Given the description of an element on the screen output the (x, y) to click on. 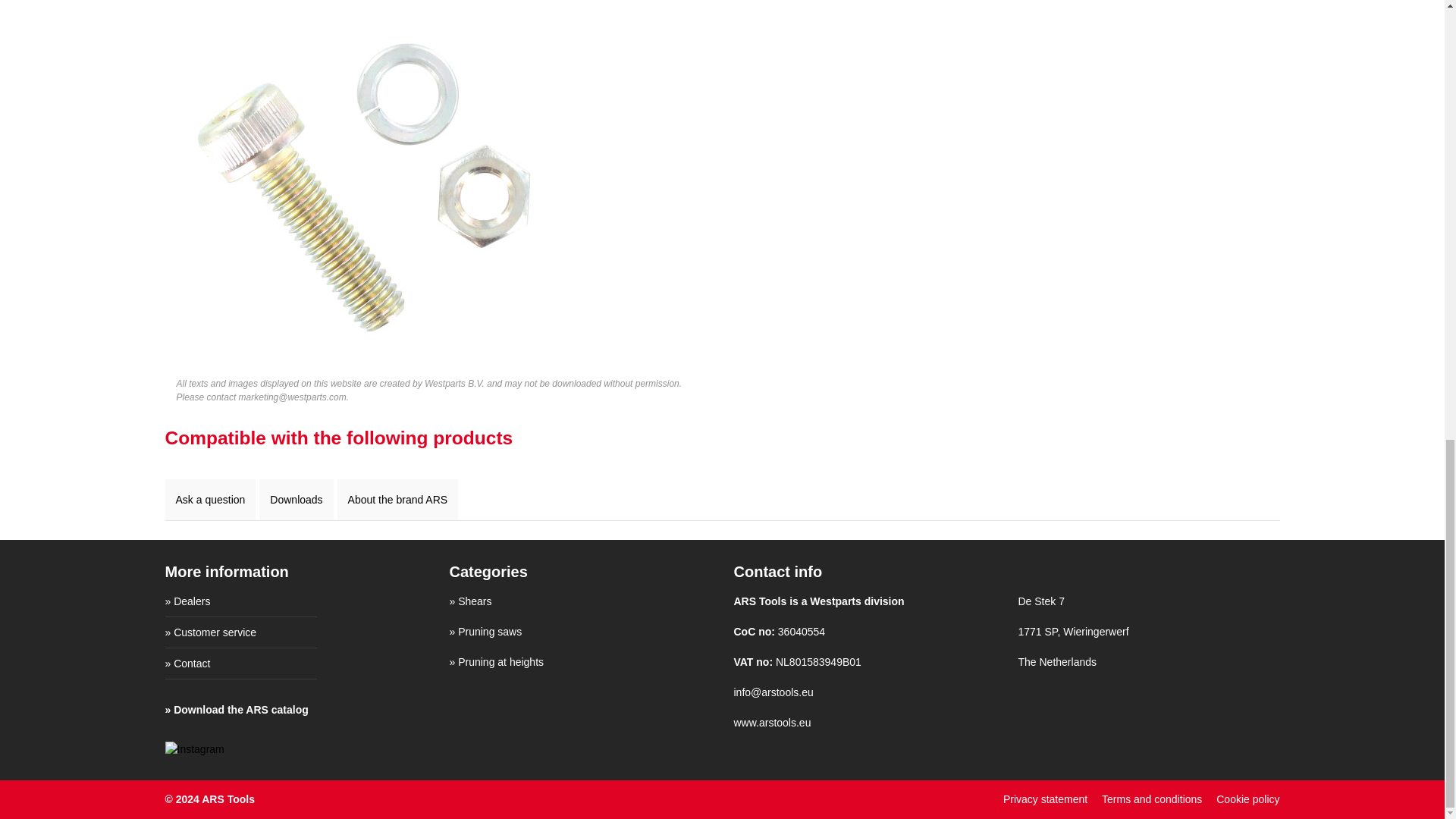
ARS ARSSP207 (365, 184)
